Given the description of an element on the screen output the (x, y) to click on. 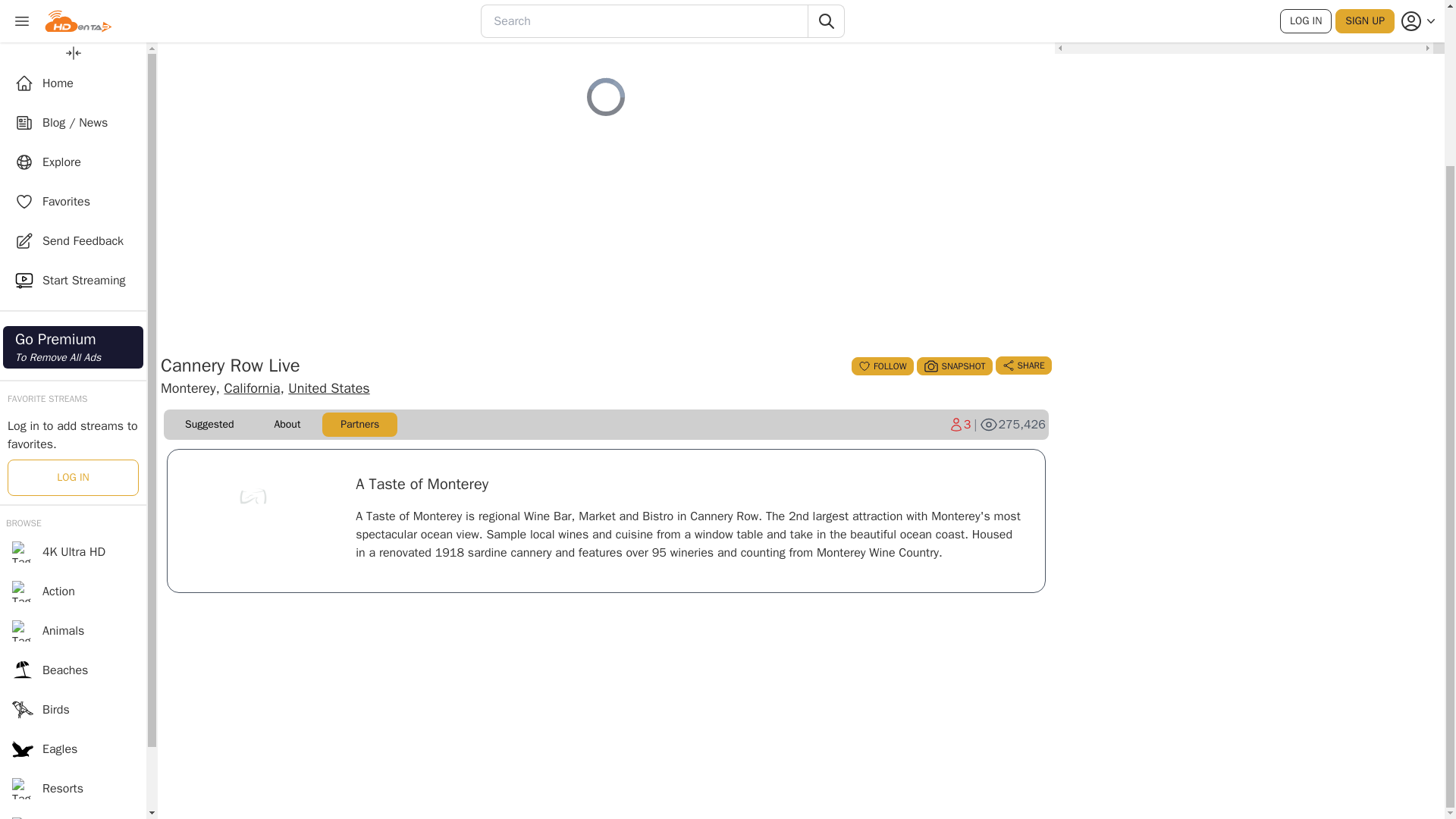
Beaches (73, 472)
Animals (73, 432)
Start Streaming (72, 82)
Action (73, 393)
Scenic (73, 630)
Favorites (72, 11)
Resorts (73, 590)
4K Ultra HD (73, 353)
Follow this stream (881, 366)
Surf (73, 669)
FOLLOW (881, 366)
LOG IN (72, 279)
Current viewers (960, 424)
Birds (73, 511)
